Given the description of an element on the screen output the (x, y) to click on. 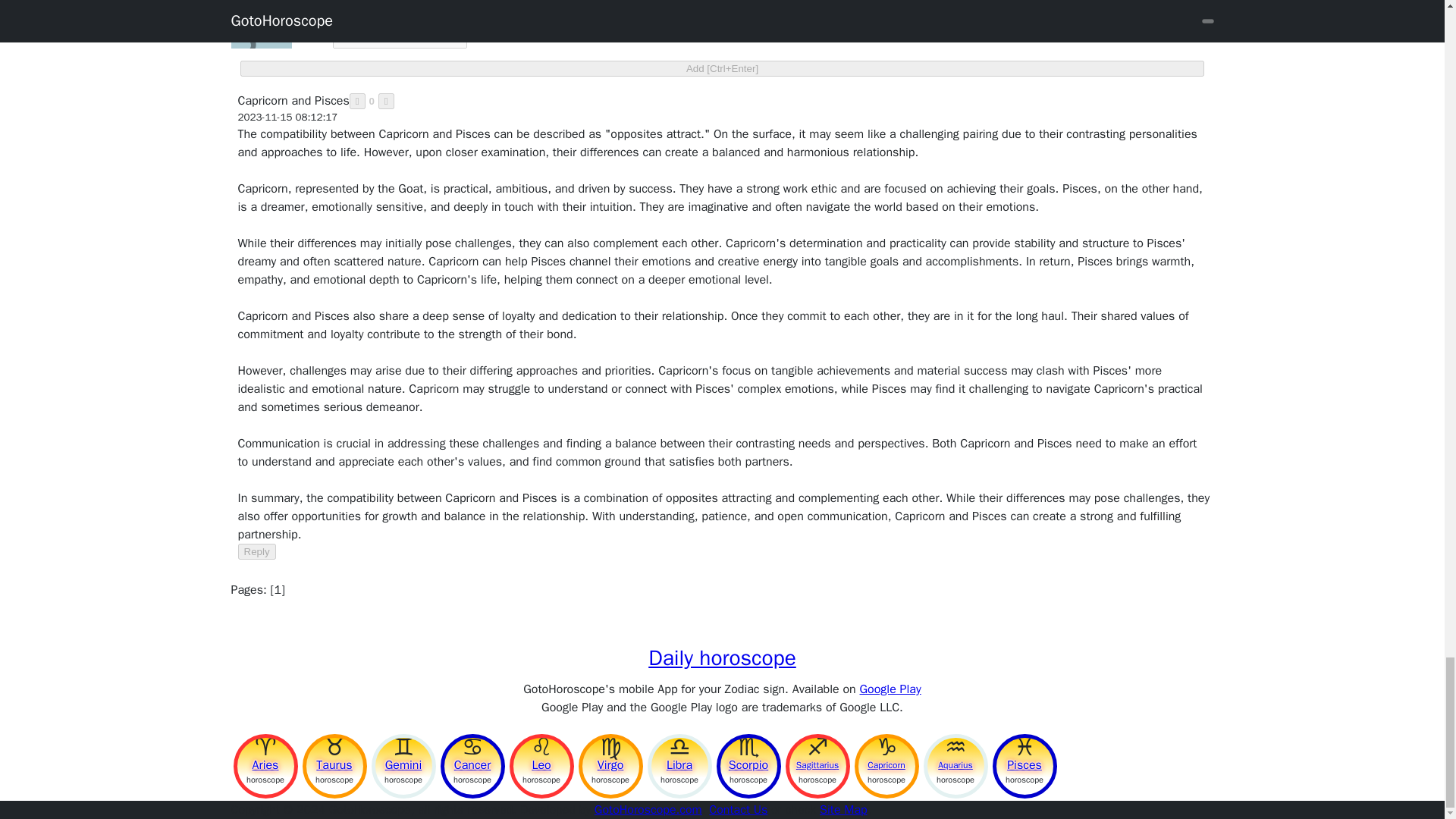
Refresh (311, 25)
Reply (257, 551)
